Given the description of an element on the screen output the (x, y) to click on. 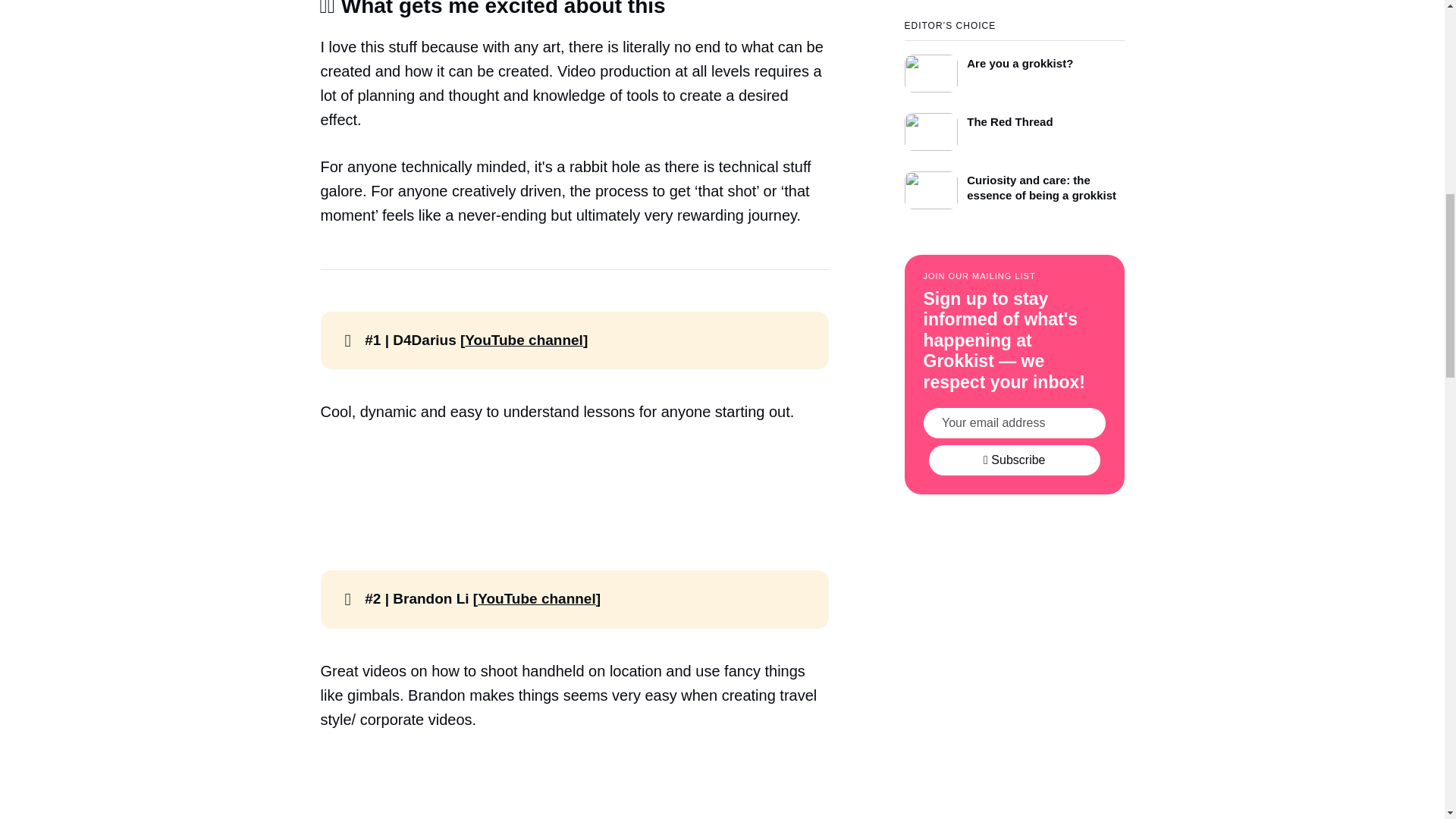
Are you a grokkist? (1014, 66)
The Red Thread (1014, 127)
YouTube channel (523, 340)
Curiosity and care: the essence of being a grokkist (1014, 185)
YouTube channel (536, 598)
